Given the description of an element on the screen output the (x, y) to click on. 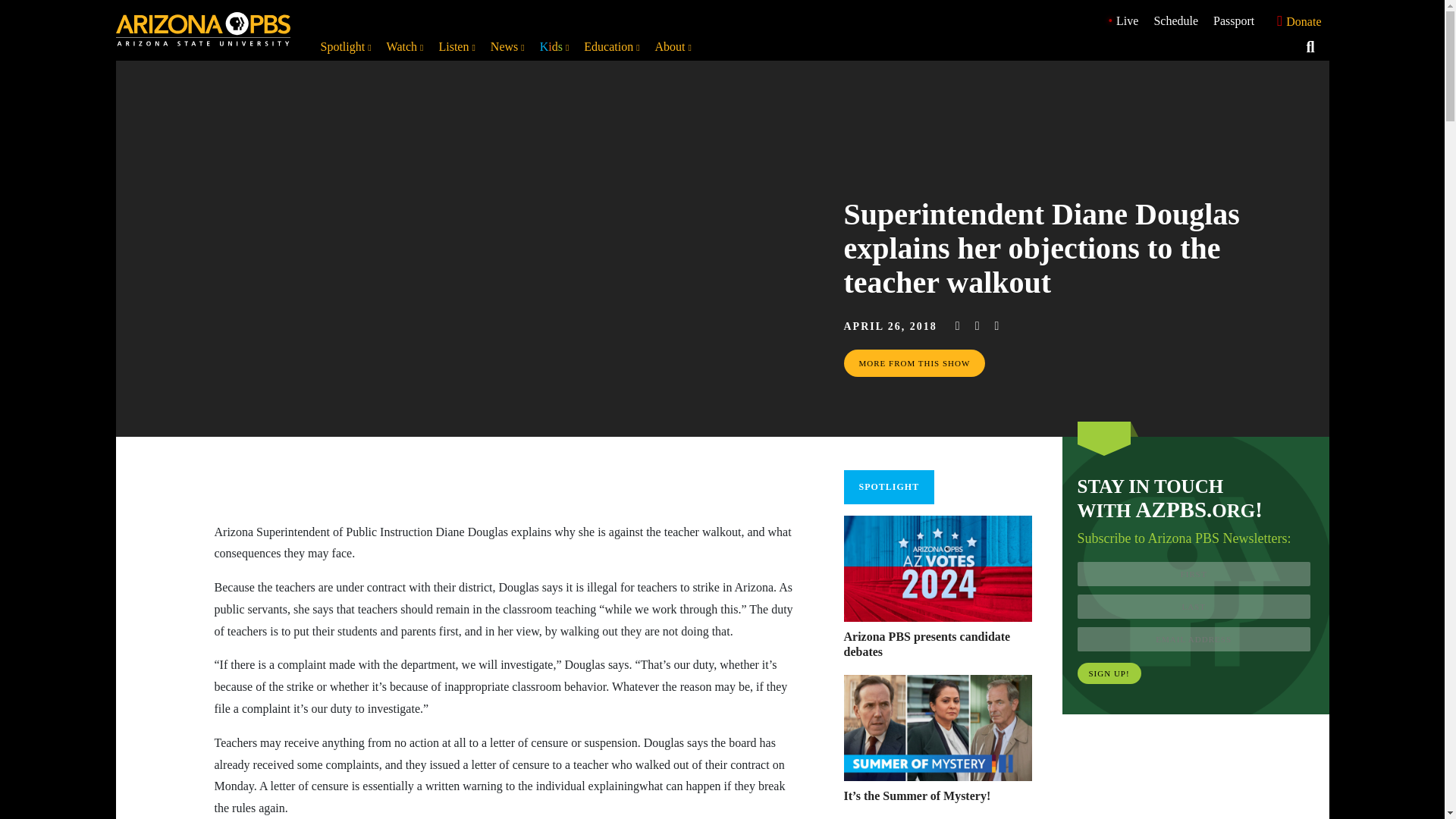
Schedule (1175, 20)
Passport (1233, 20)
Passport (1232, 19)
Donate (1294, 21)
Spotlight (345, 47)
Watch (404, 47)
SKIP TO CONTENT (15, 7)
Donate (1294, 20)
Sign up! (1108, 672)
Schedule (1175, 19)
